Given the description of an element on the screen output the (x, y) to click on. 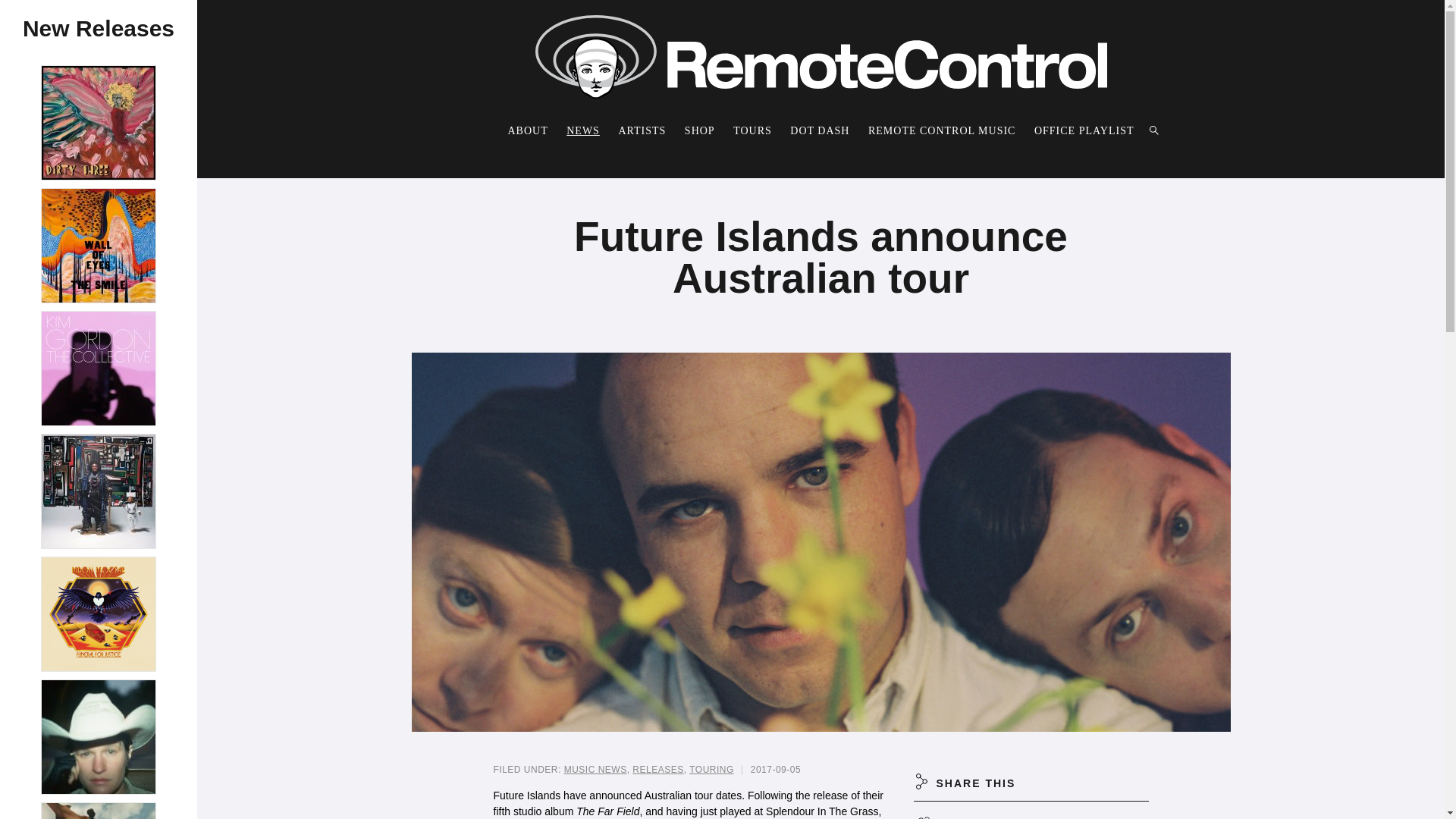
REMOTE CONTROL MUSIC (941, 130)
Kamasi Washington - Fearless Movement (98, 490)
Mdou Moctar - Funeral For Justice (98, 613)
TOURING (710, 769)
OFFICE PLAYLIST (1083, 130)
Sampha - LAHAI (98, 811)
ARTIST WEBSITE (1030, 810)
Dirty Three - Love Changes Everything (98, 122)
ABOUT (526, 130)
RELEASES (656, 769)
